Given the description of an element on the screen output the (x, y) to click on. 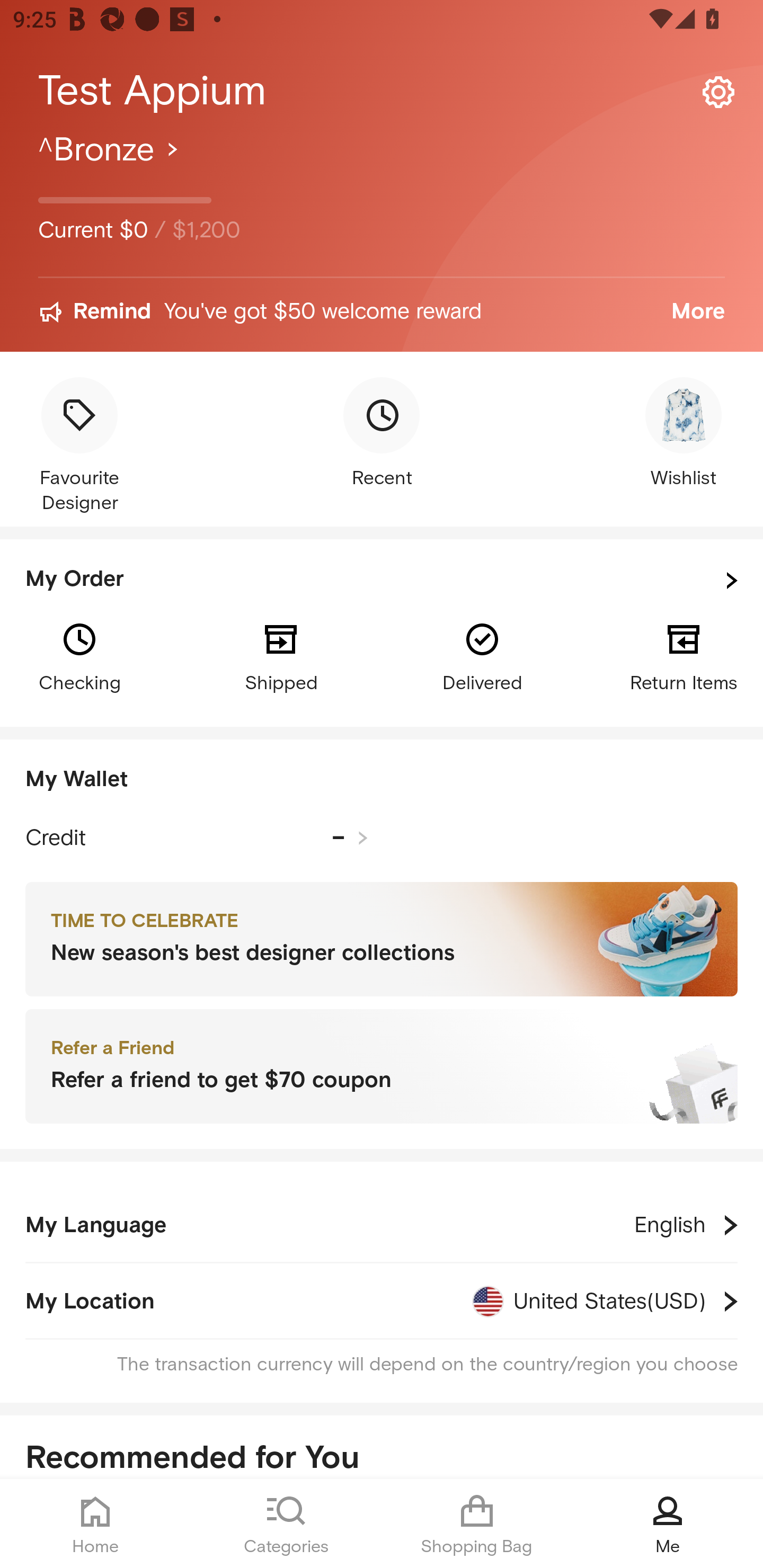
Test Appium (381, 91)
Remind You've got $50 welcome reward More (381, 311)
Favourite Designer (79, 446)
Recent (381, 433)
Wishlist (683, 433)
My Order (381, 580)
Checking (79, 656)
Shipped (280, 656)
Delivered (482, 656)
Return Items (683, 656)
My Wallet (381, 779)
Credit - (196, 837)
Refer a Friend Refer a friend to get $70 coupon (381, 1066)
My Language English (381, 1224)
My Location United States(USD) (381, 1301)
Home (95, 1523)
Categories (285, 1523)
Shopping Bag (476, 1523)
